Given the description of an element on the screen output the (x, y) to click on. 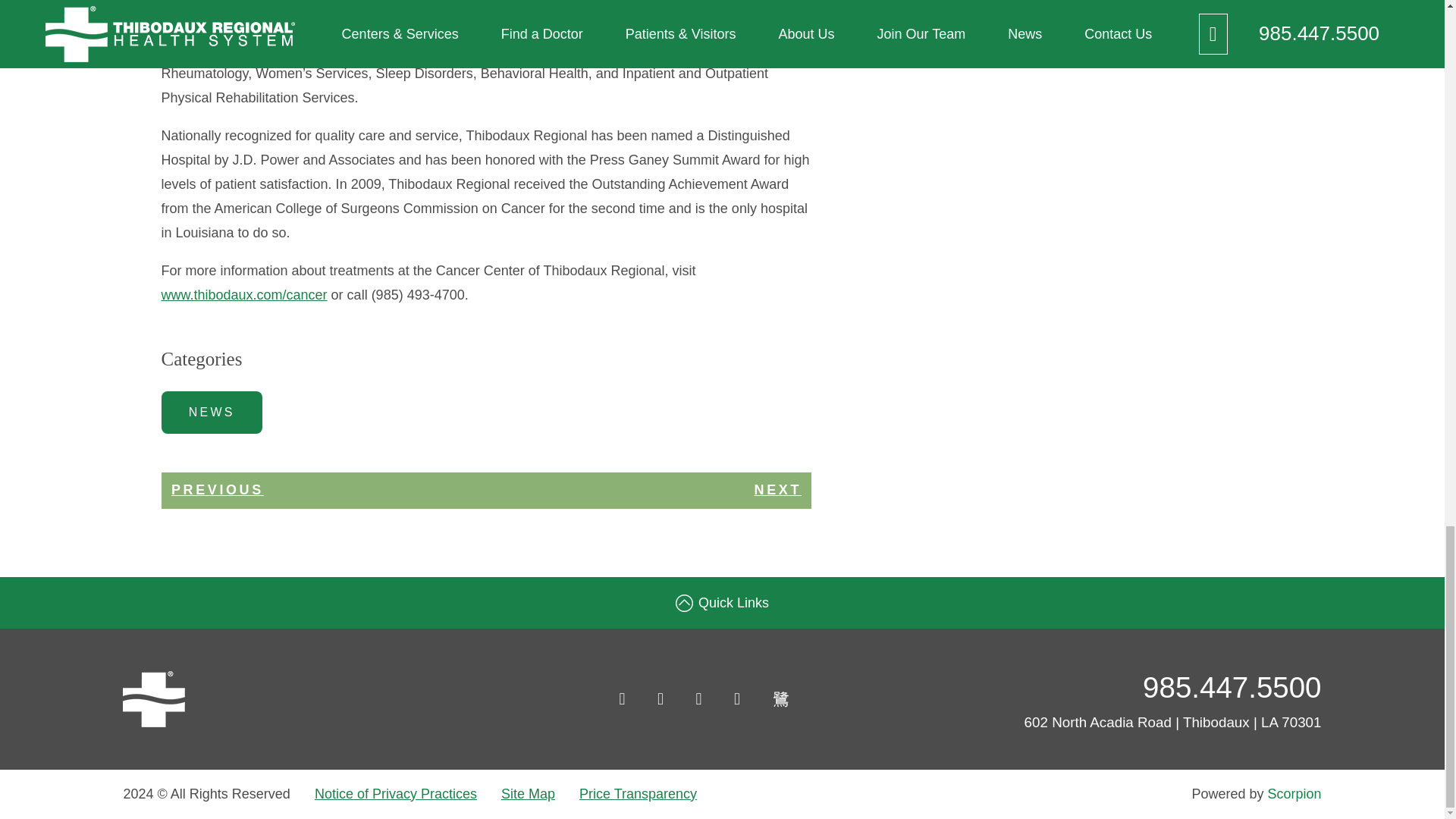
CANCER IN WOMEN: Take Care of Yourselves (216, 490)
No Place like Home for Efficient, Coordinated Care (777, 490)
